Given the description of an element on the screen output the (x, y) to click on. 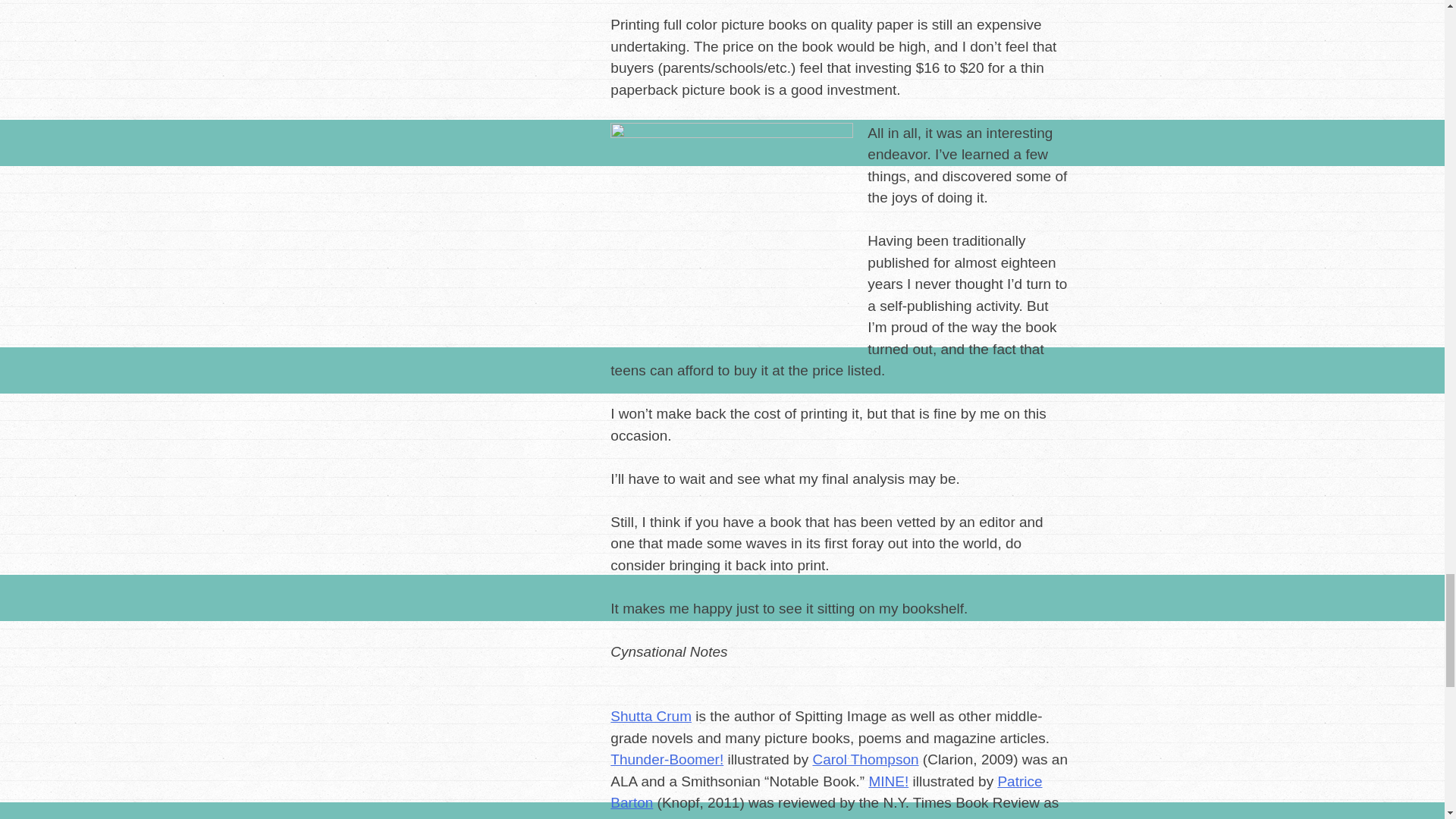
Carol Thompson (865, 759)
Shutta Crum (650, 715)
Patrice Barton (826, 792)
Thunder-Boomer! (666, 759)
MINE! (887, 781)
